Given the description of an element on the screen output the (x, y) to click on. 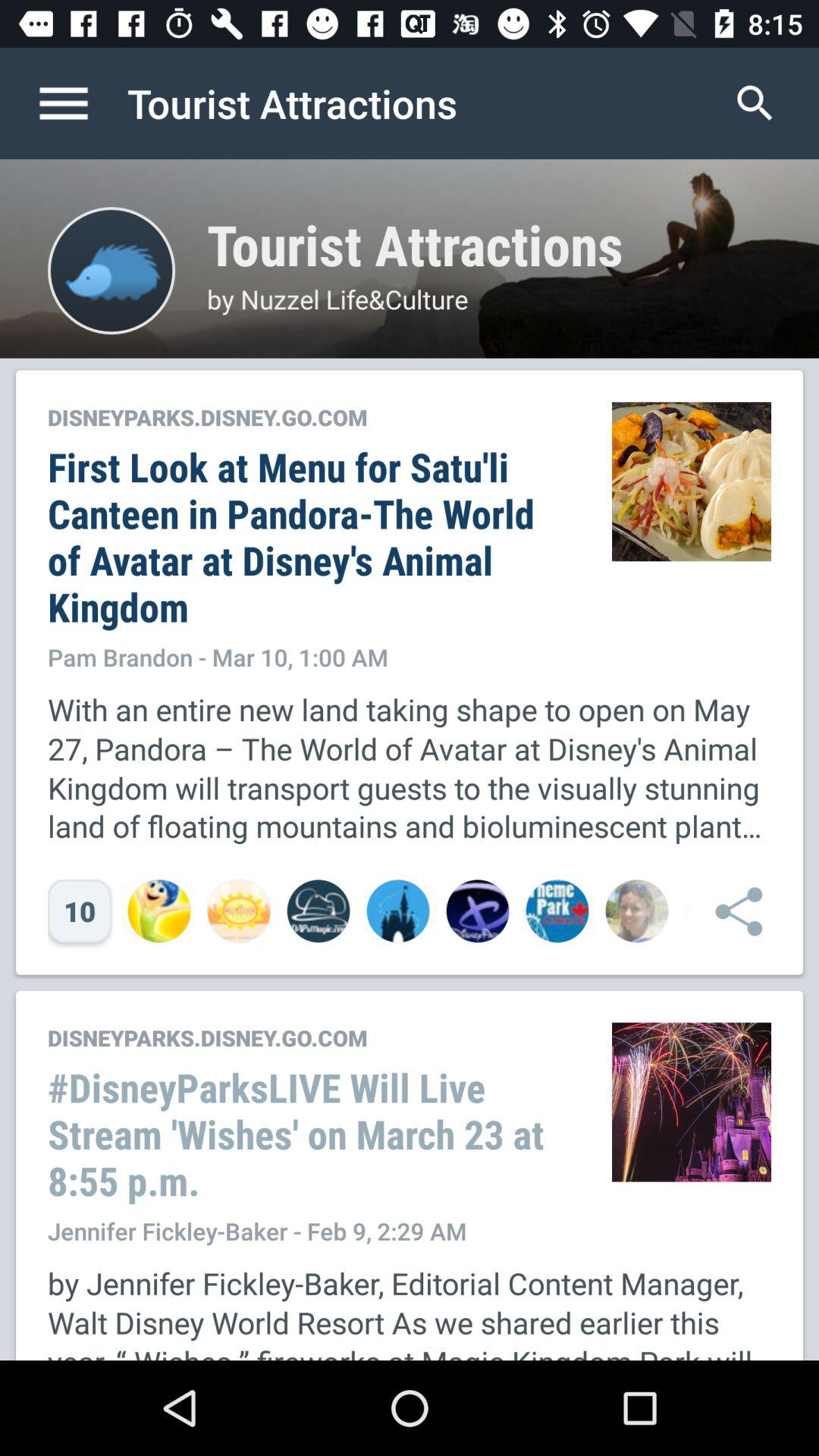
tap icon next to the tourist attractions (755, 103)
